Given the description of an element on the screen output the (x, y) to click on. 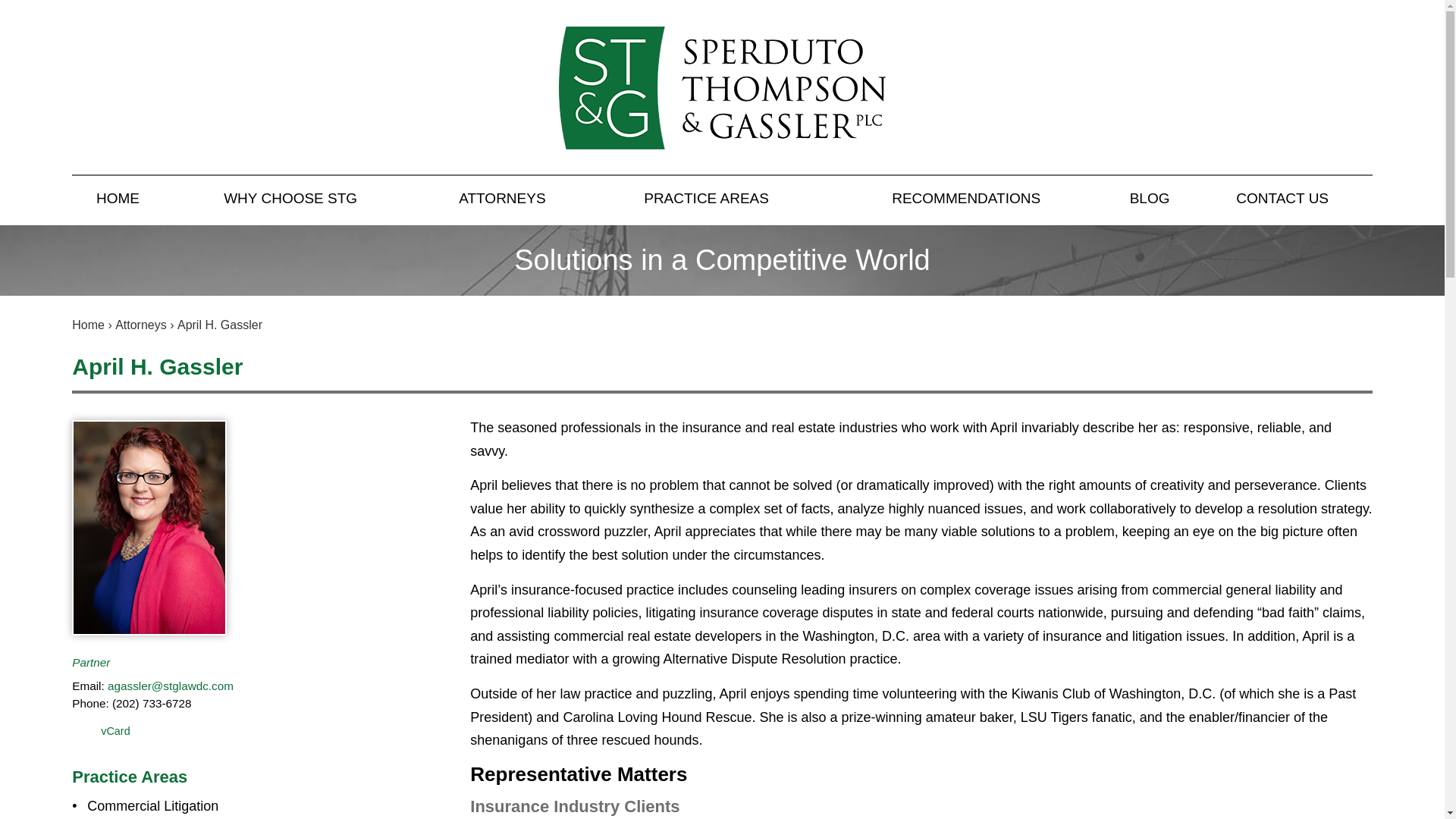
PRACTICE AREAS (706, 200)
Email (169, 685)
CONTACT US (1282, 200)
ATTORNEYS (502, 200)
Click for more Partner information (90, 662)
WHY CHOOSE STG (290, 200)
Read more about Commercial Litigation (152, 806)
Partner (90, 662)
HOME (117, 200)
vCard (100, 732)
